Given the description of an element on the screen output the (x, y) to click on. 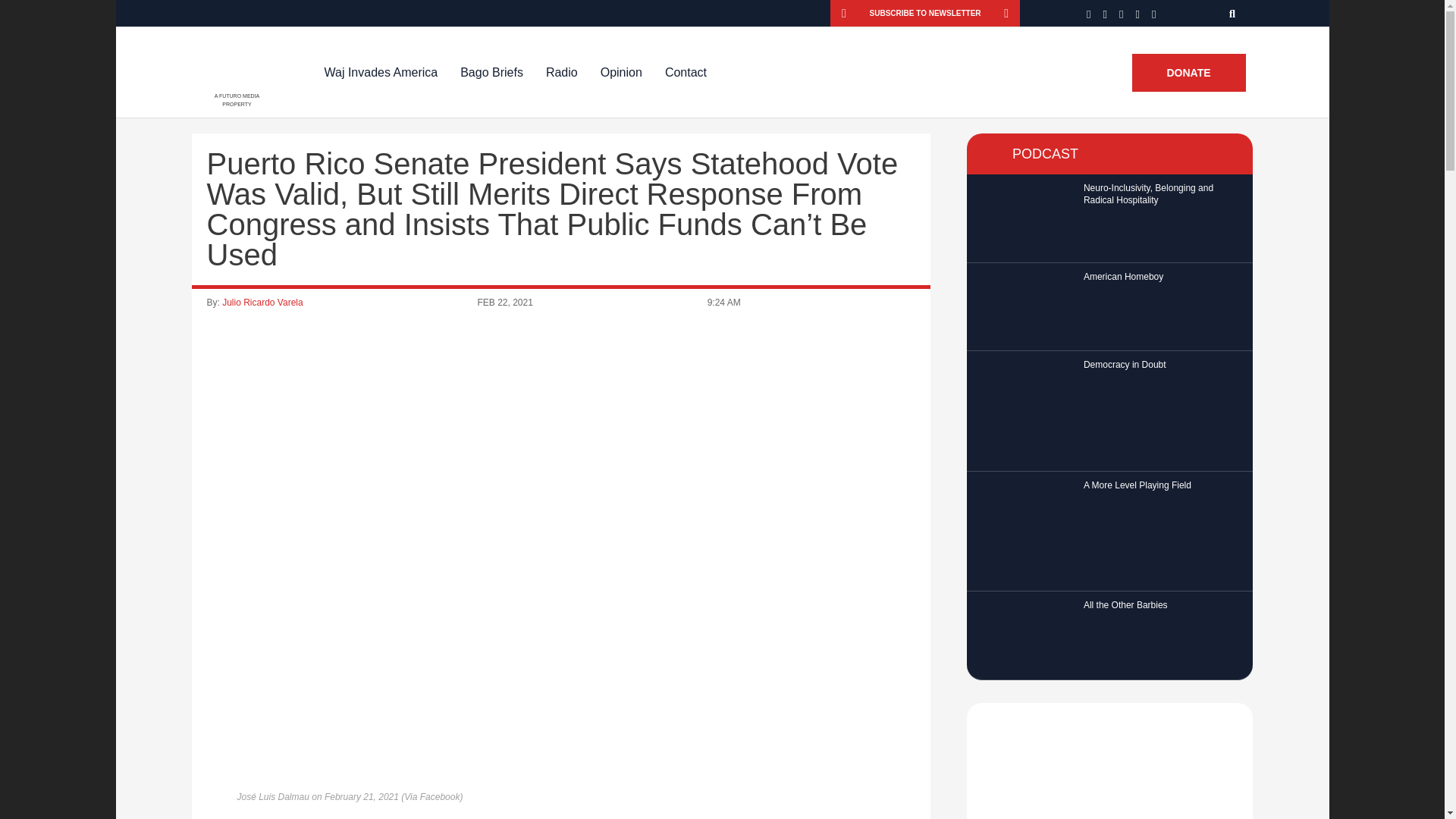
Search (1233, 13)
Bago Briefs (491, 72)
Waj Invades America (380, 72)
Subscribe to newsletter (924, 13)
Julio Ricardo Varela (262, 302)
Posts by Julio Ricardo Varela (262, 302)
Search (1233, 13)
Search (1233, 13)
DONATE (1187, 72)
